Given the description of an element on the screen output the (x, y) to click on. 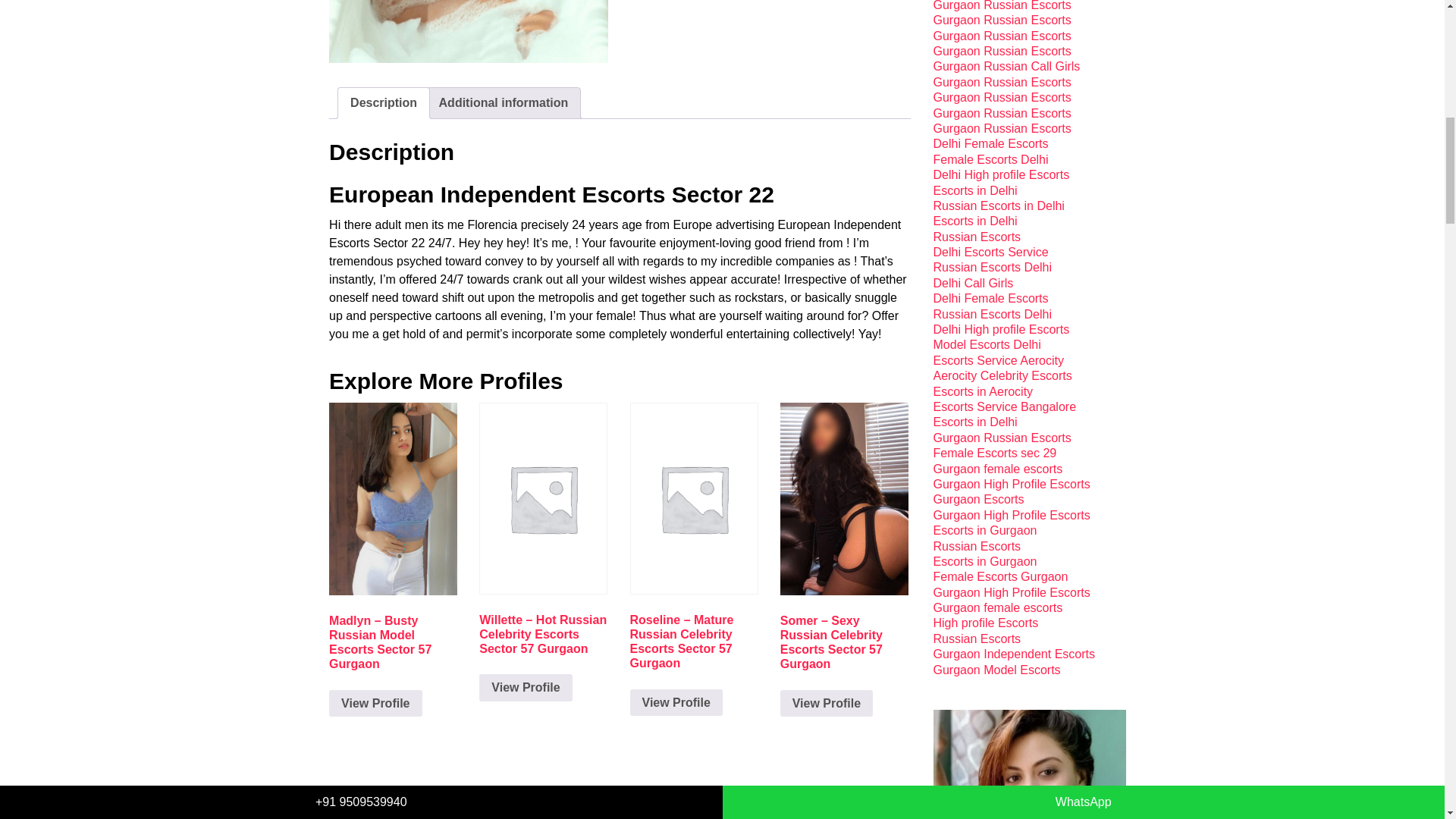
Description (383, 102)
florencia (468, 31)
Additional information (504, 102)
